Given the description of an element on the screen output the (x, y) to click on. 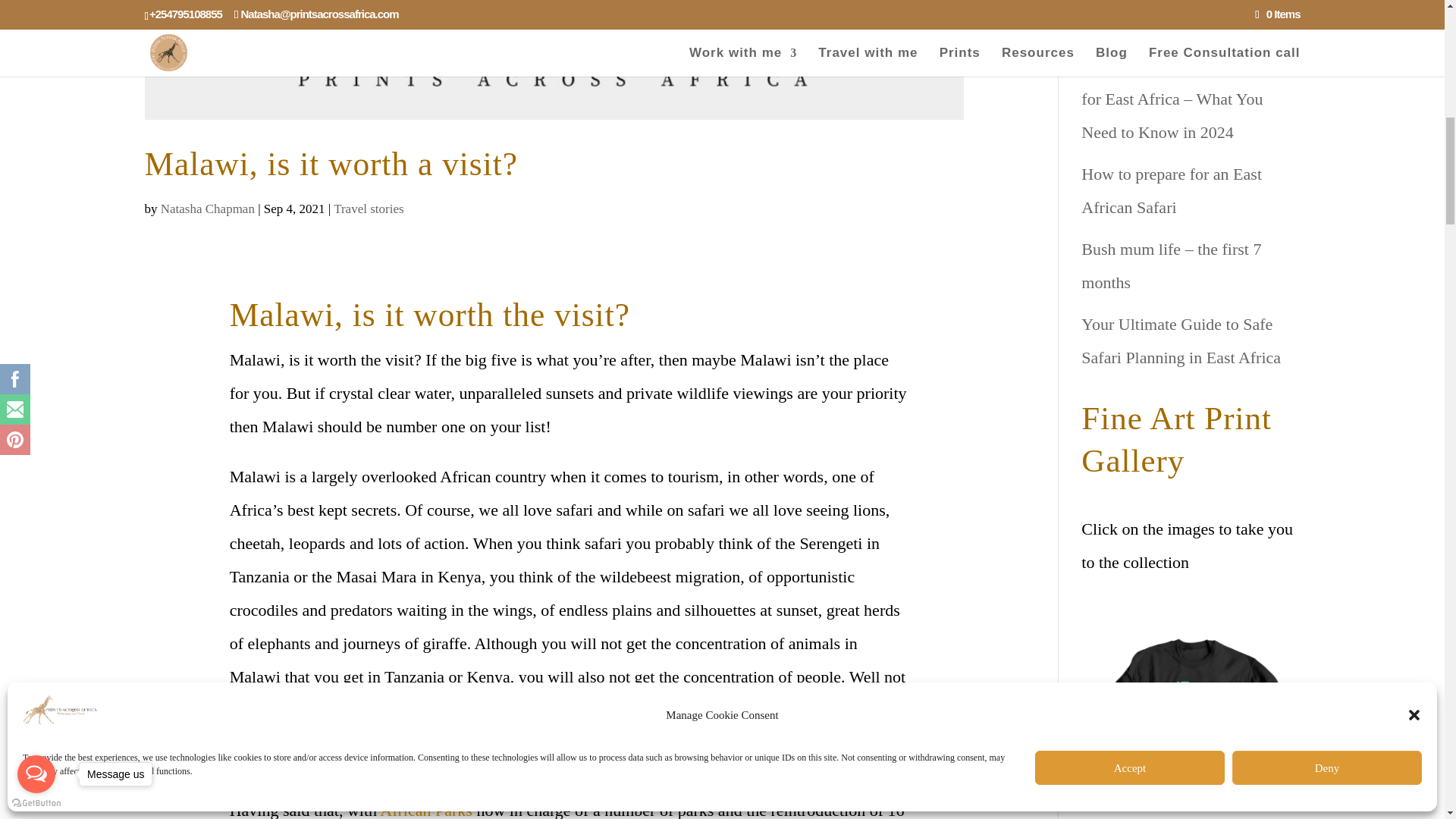
Posts by Natasha Chapman (207, 208)
Malawi, is it worth a visit? (331, 163)
Natasha Chapman (207, 208)
Travel stories (368, 208)
